Given the description of an element on the screen output the (x, y) to click on. 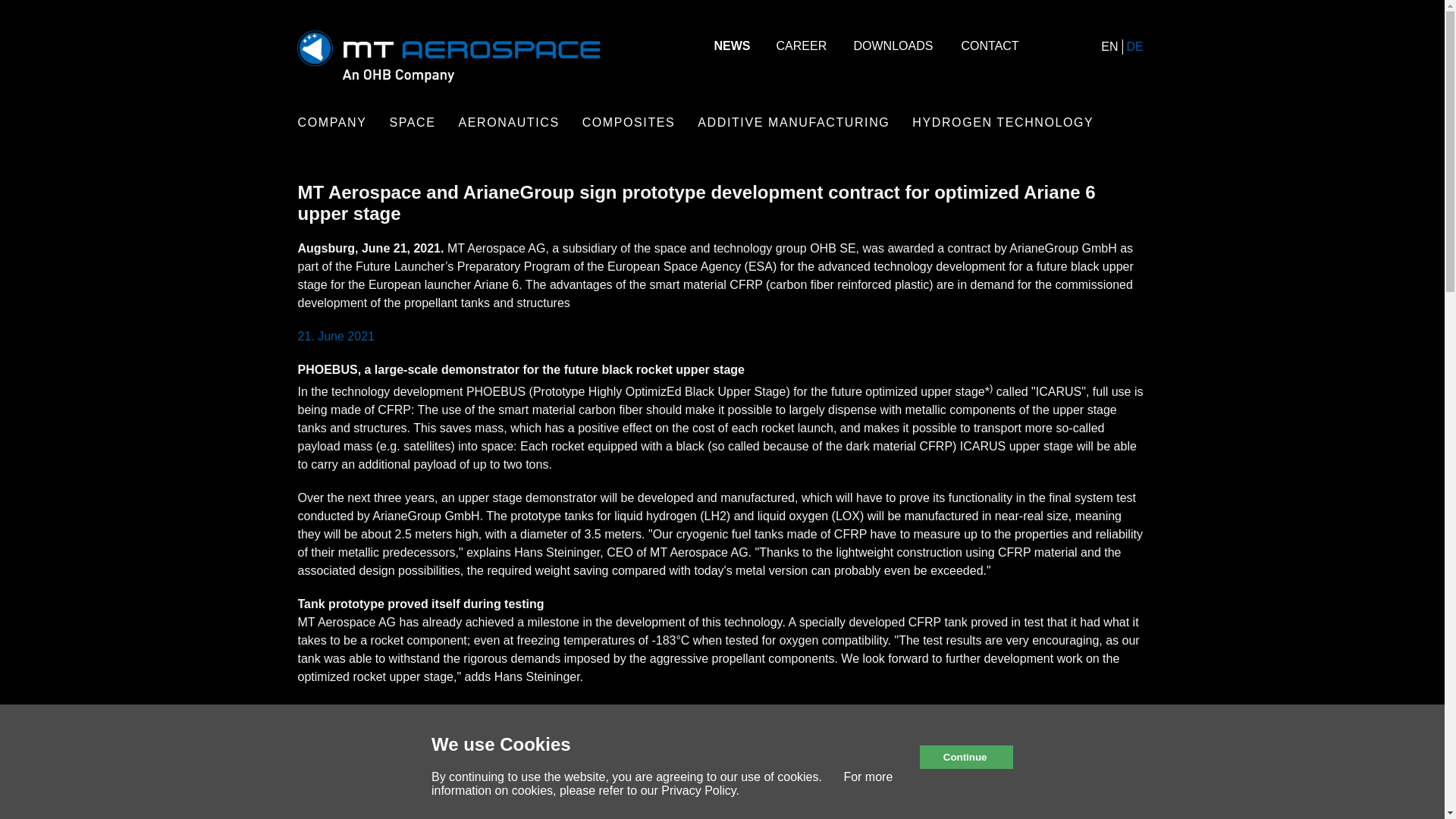
Composites (628, 122)
Company (331, 122)
COMPANY (331, 122)
EN (1109, 46)
Downloads (896, 46)
ADDITIVE MANUFACTURING (793, 122)
COMPOSITES (628, 122)
HYDROGEN TECHNOLOGY (1002, 122)
NEWS (734, 46)
SPACE (411, 122)
Hydrogen Technology (1002, 122)
Space (411, 122)
DOWNLOADS (896, 46)
Home (447, 78)
AERONAUTICS (508, 122)
